Given the description of an element on the screen output the (x, y) to click on. 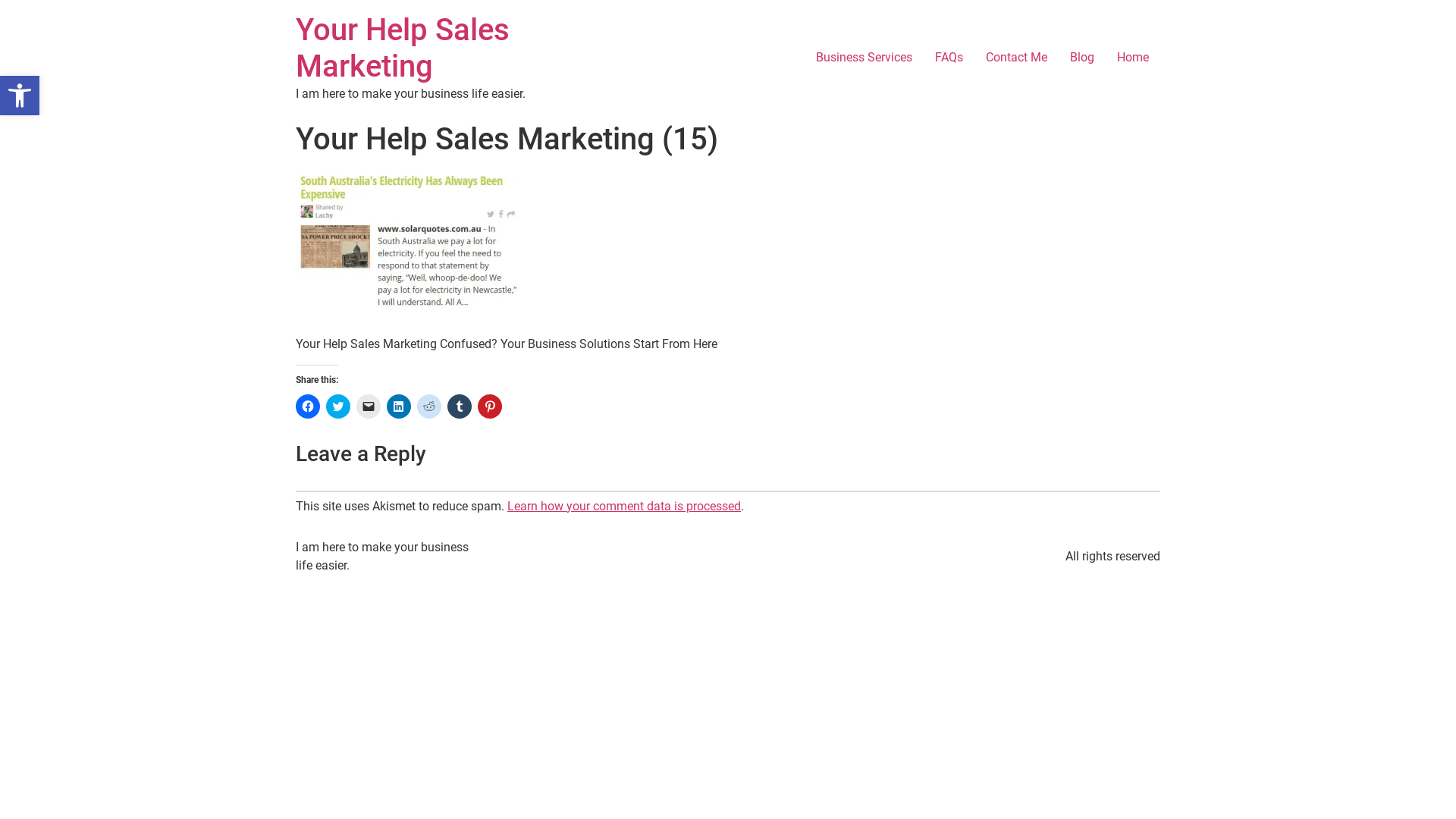
Click to share on LinkedIn (Opens in new window) Element type: text (398, 406)
Comment Form Element type: hover (727, 491)
Business Services Element type: text (863, 57)
Home Element type: text (1132, 57)
Blog Element type: text (1081, 57)
Click to share on Tumblr (Opens in new window) Element type: text (459, 406)
Open toolbar
Accessibility Tools Element type: text (19, 95)
Click to share on Reddit (Opens in new window) Element type: text (429, 406)
Click to share on Twitter (Opens in new window) Element type: text (338, 406)
Click to email a link to a friend (Opens in new window) Element type: text (368, 406)
Learn how your comment data is processed Element type: text (623, 505)
Click to share on Pinterest (Opens in new window) Element type: text (489, 406)
Click to share on Facebook (Opens in new window) Element type: text (307, 406)
FAQs Element type: text (948, 57)
Your Help Sales Marketing Element type: text (402, 48)
Contact Me Element type: text (1016, 57)
